Given the description of an element on the screen output the (x, y) to click on. 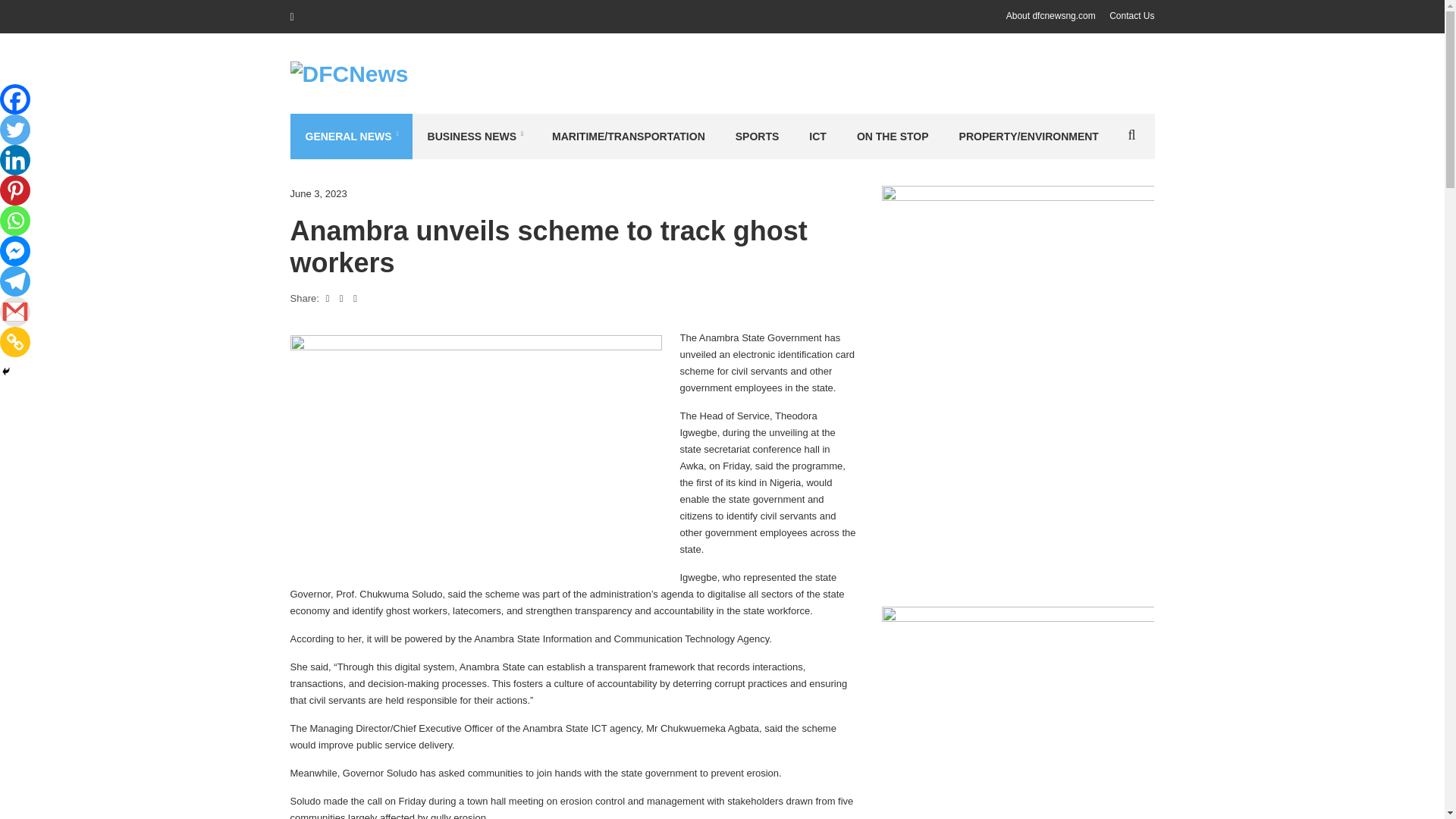
Pinterest (15, 190)
About dfcnewsng.com (1051, 15)
Twitter (15, 129)
Linkedin (15, 159)
Google Gmail (15, 311)
Whatsapp (15, 220)
Contact Us (1131, 15)
GENERAL NEWS (350, 135)
Copy Link (15, 341)
Telegram (15, 281)
Facebook (15, 99)
Hide (5, 371)
